Given the description of an element on the screen output the (x, y) to click on. 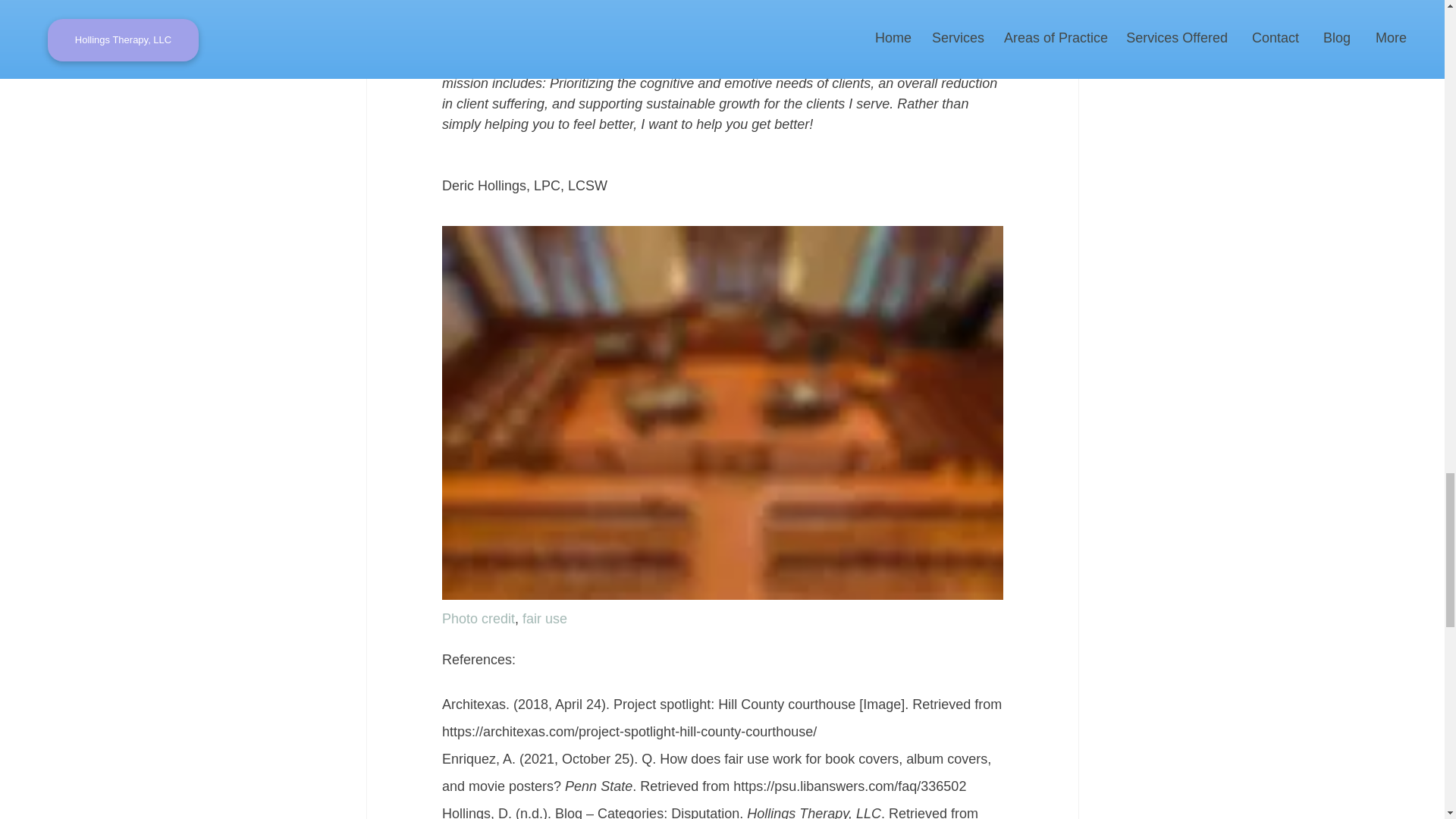
Photo credit (477, 618)
fair use (544, 618)
